Given the description of an element on the screen output the (x, y) to click on. 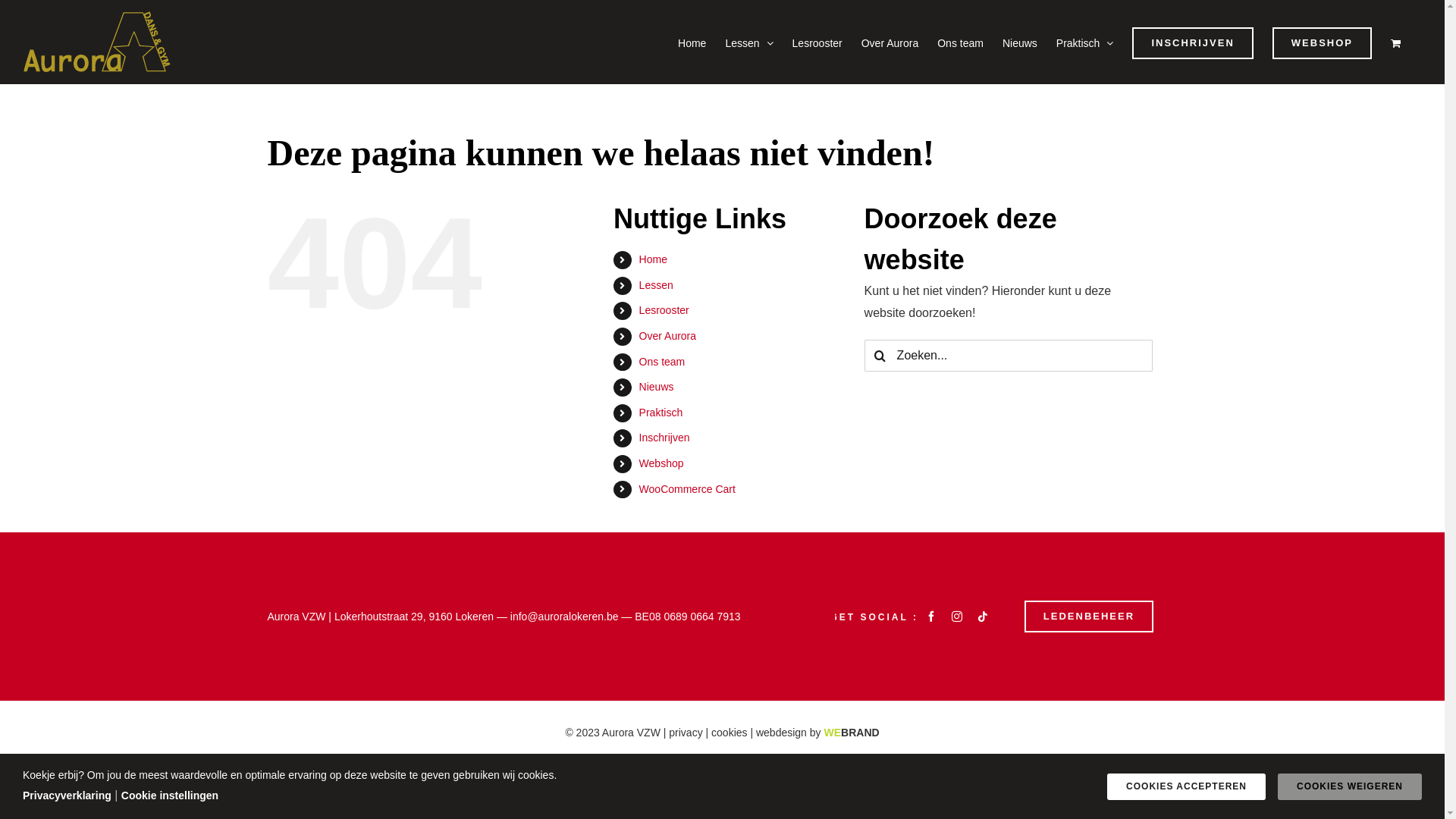
Over Aurora Element type: text (667, 335)
info@auroralokeren.be Element type: text (564, 616)
Tiktok Element type: hover (982, 616)
Lessen Element type: text (748, 41)
Inschrijven Element type: text (664, 437)
Ons team Element type: text (960, 41)
WooCommerce Cart Element type: text (687, 489)
Over Aurora Element type: text (889, 41)
Praktisch Element type: text (1084, 41)
WEBSHOP Element type: text (1321, 41)
cookies Element type: text (728, 732)
COOKIES WEIGEREN Element type: text (1349, 786)
Home Element type: text (653, 259)
Lesrooster Element type: text (817, 41)
Lokerhoutstraat 29, 9160 Lokeren Element type: text (413, 616)
Ons team Element type: text (662, 361)
privacy Element type: text (685, 732)
Nieuws Element type: text (656, 386)
Lessen Element type: text (656, 285)
Nieuws Element type: text (1019, 41)
Praktisch Element type: text (661, 412)
Lesrooster Element type: text (664, 310)
Privacyverklaring Element type: text (66, 795)
LEDENBEHEER Element type: text (1088, 616)
INSCHRIJVEN Element type: text (1192, 41)
Instagram Element type: hover (956, 616)
Cookie instellingen Element type: text (169, 795)
webdesign by WEBRAND Element type: text (817, 732)
Home Element type: text (691, 41)
Webshop Element type: text (661, 463)
Facebook Element type: hover (930, 616)
COOKIES ACCEPTEREN Element type: text (1186, 786)
